Given the description of an element on the screen output the (x, y) to click on. 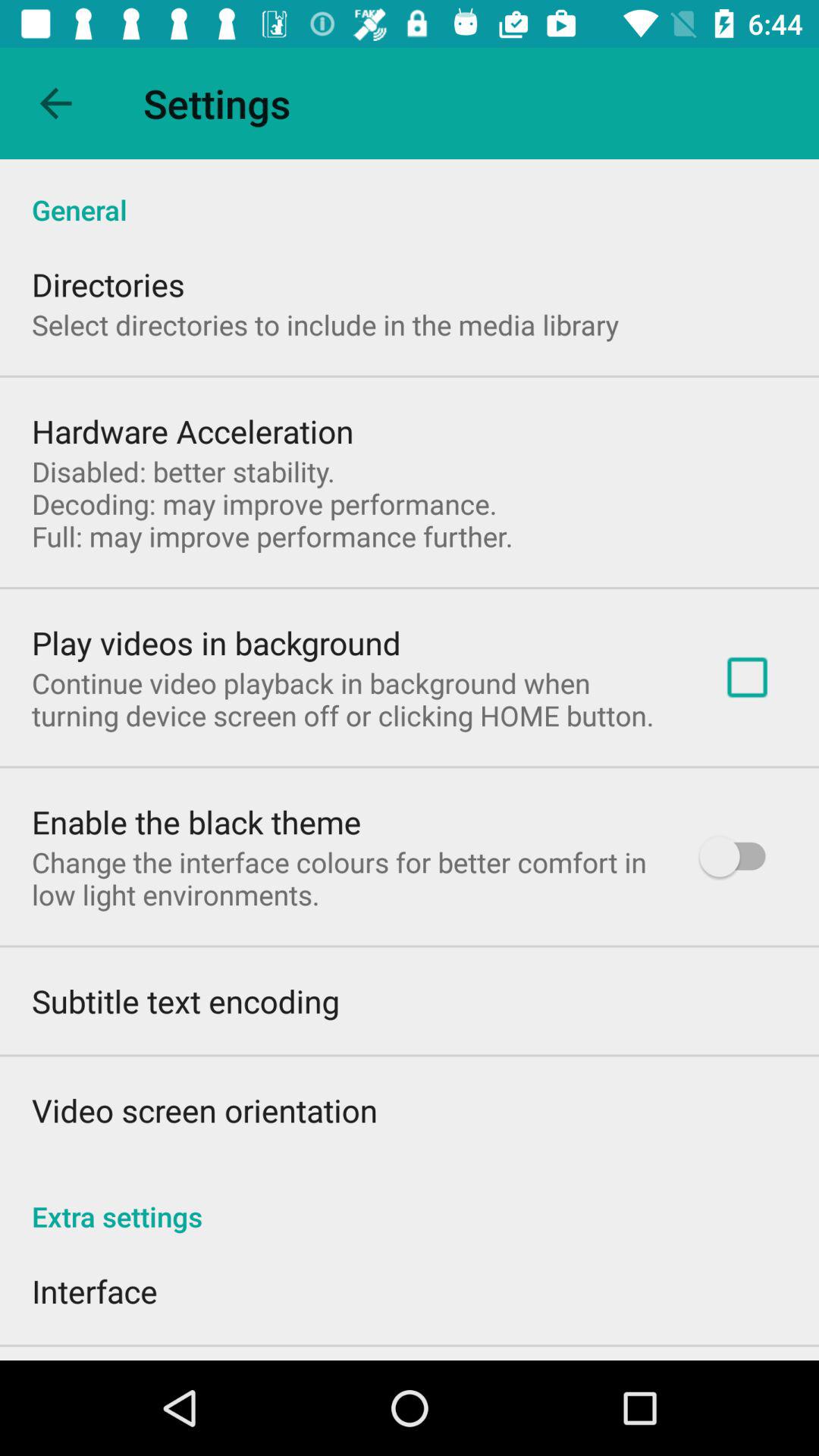
turn off enable the black item (196, 821)
